Given the description of an element on the screen output the (x, y) to click on. 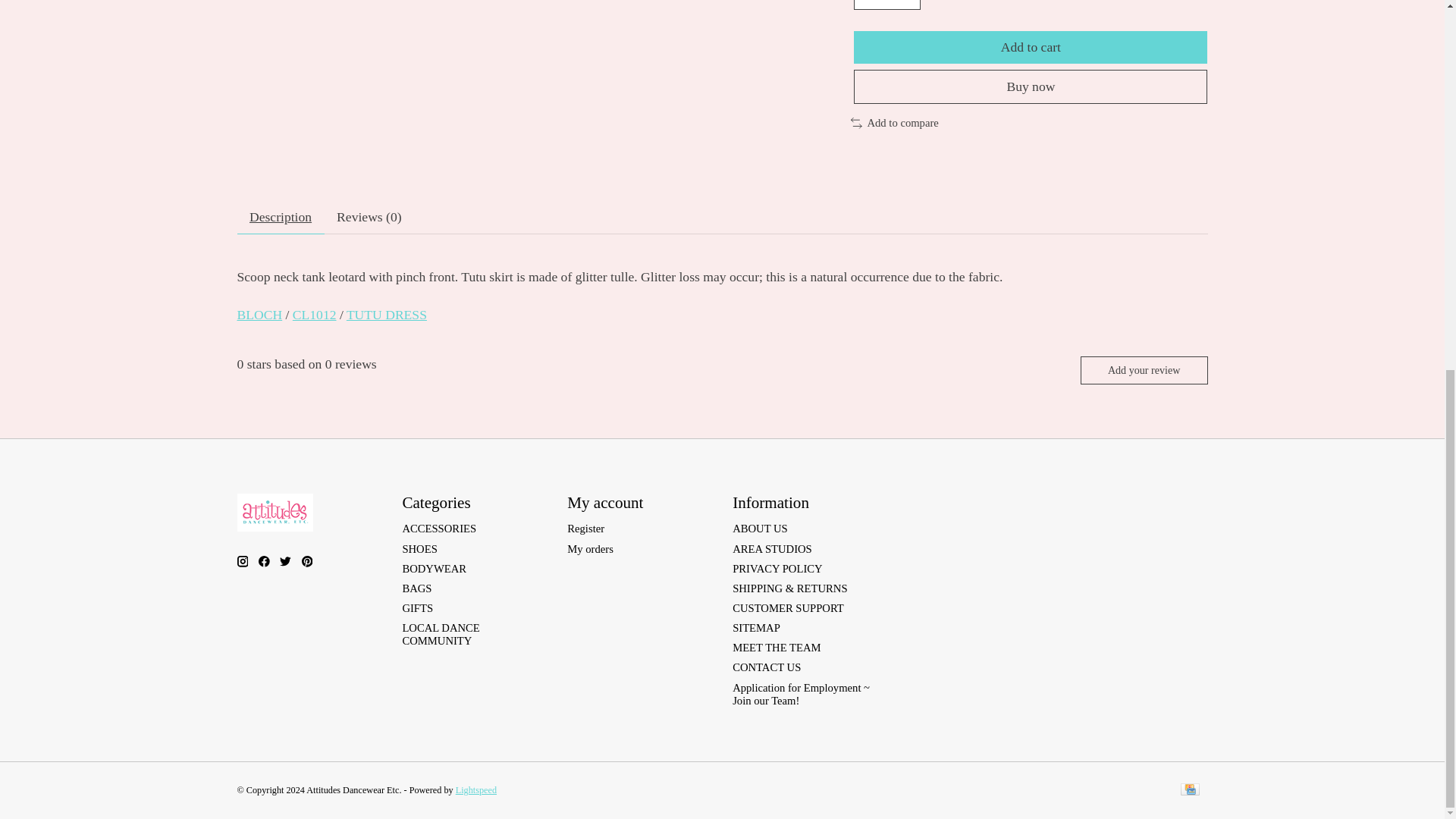
PRIVACY POLICY (777, 568)
MEET THE TEAM (776, 647)
Register (585, 528)
1 (886, 5)
BLOCH (258, 314)
My orders (589, 548)
SITEMAP (756, 627)
AREA STUDIOS (772, 548)
CL1012 (314, 314)
CUSTOMER SUPPORT (788, 607)
